Given the description of an element on the screen output the (x, y) to click on. 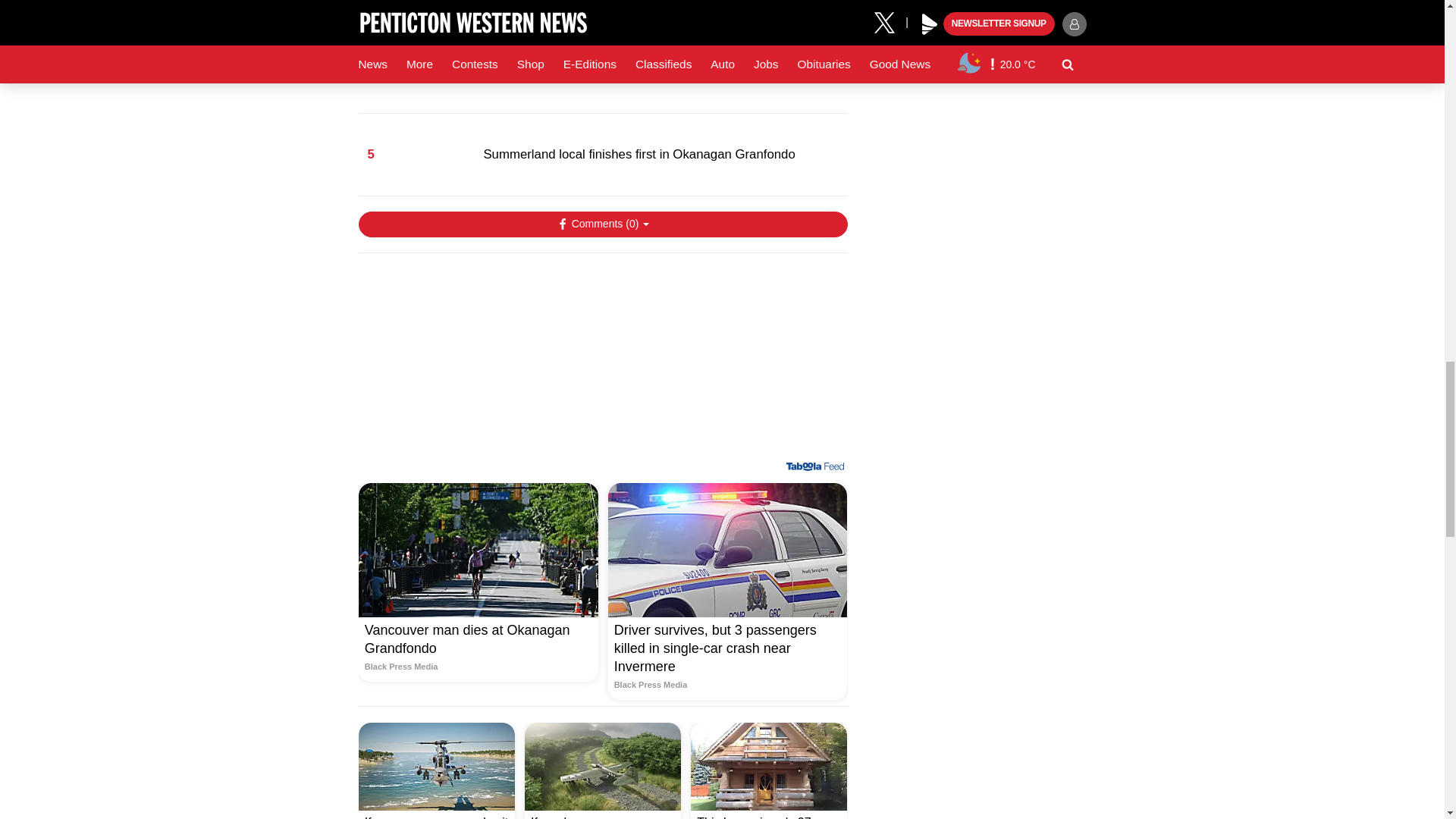
3rd party ad content (602, 362)
Show Comments (602, 224)
Vancouver man dies at Okanagan Grandfondo (478, 550)
Vancouver man dies at Okanagan Grandfondo (478, 647)
If you own a mouse, play it for 1 minute. (436, 766)
